Given the description of an element on the screen output the (x, y) to click on. 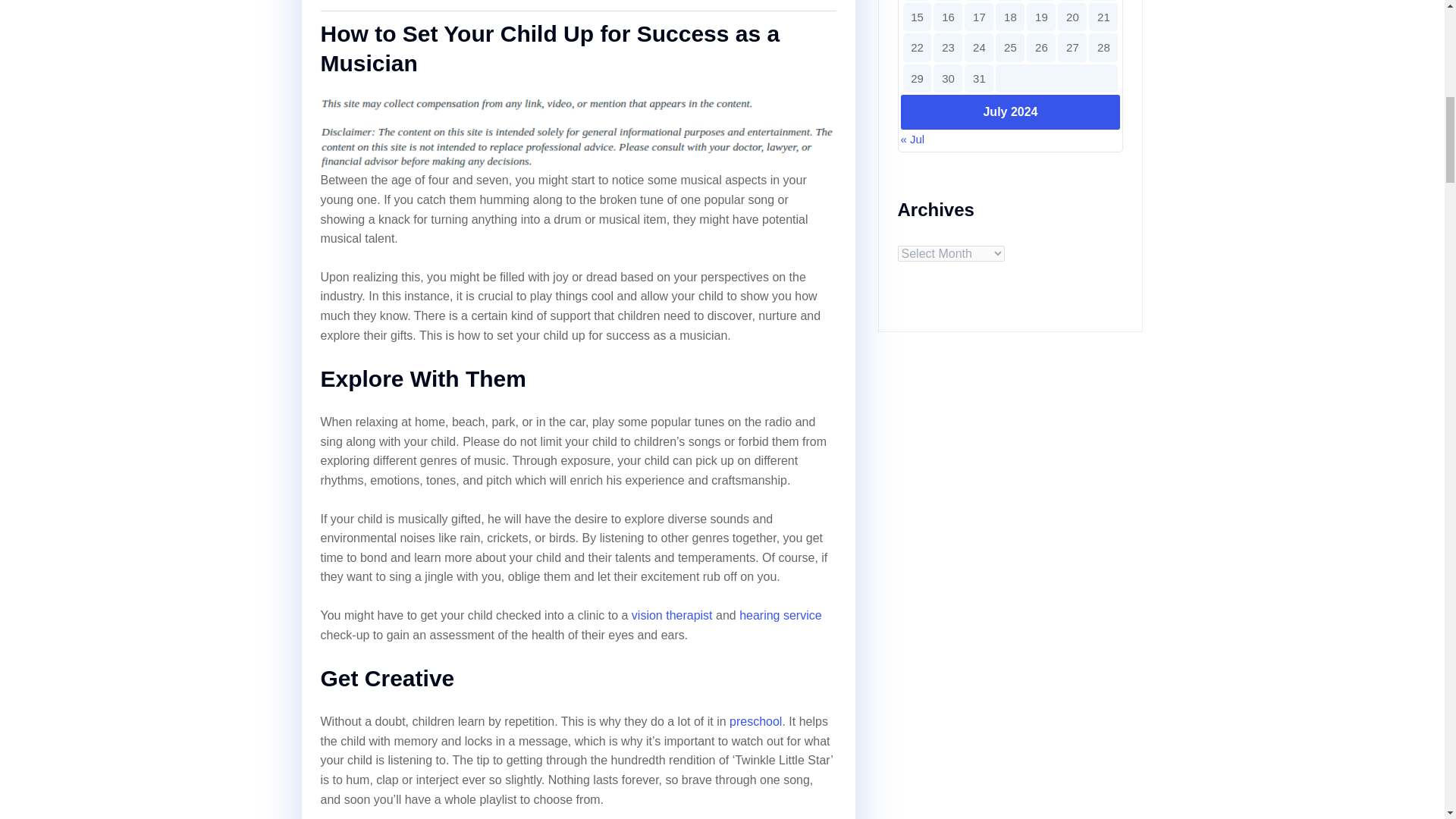
preschool (755, 721)
How to Set Your Child Up for Success as a Musician (549, 48)
How to Set Your Child Up for Success as a Musician (549, 48)
vision therapist (672, 615)
hearing service (780, 615)
